Given the description of an element on the screen output the (x, y) to click on. 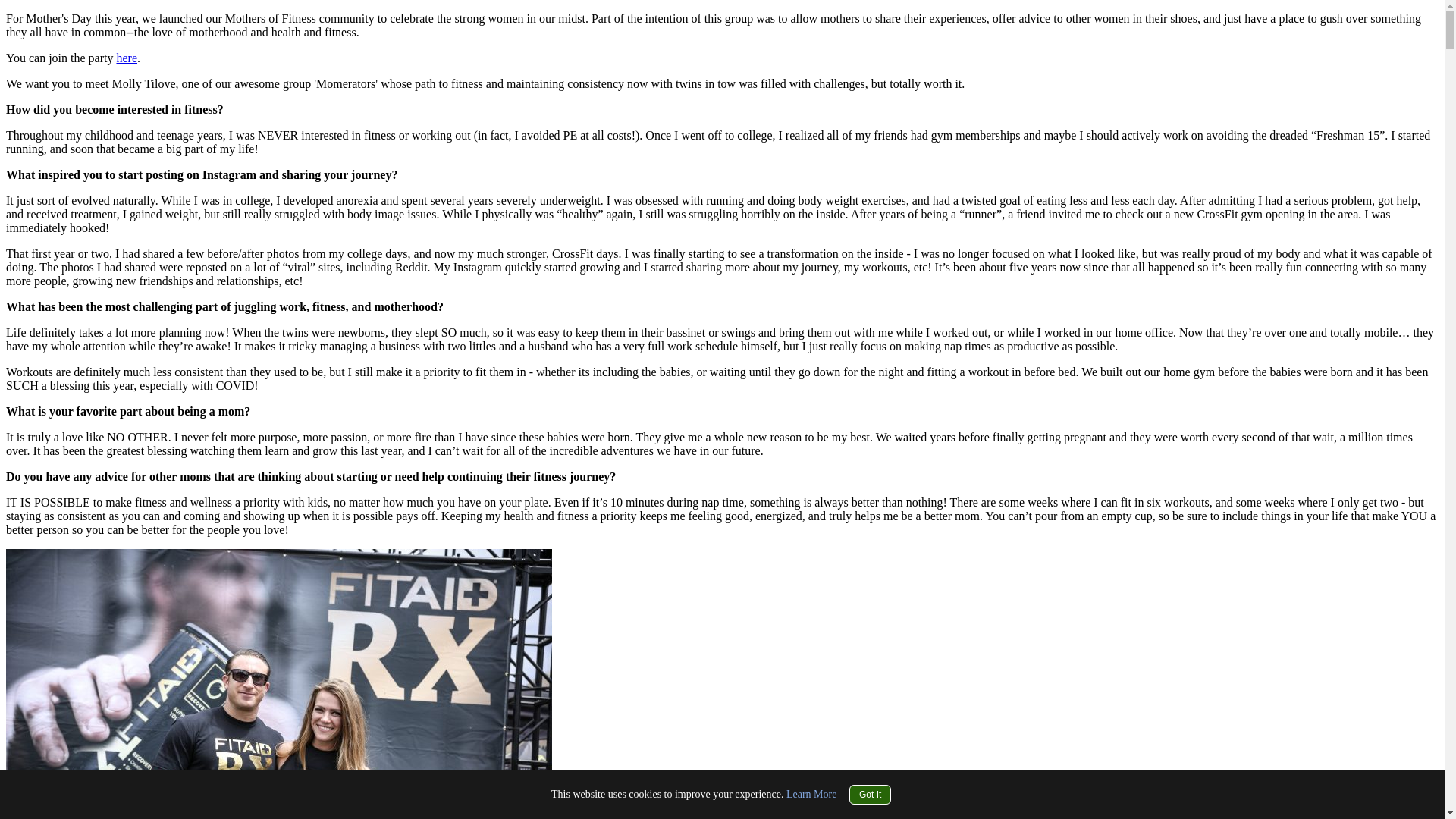
here (126, 57)
Learn More (810, 794)
Learn More (810, 794)
Got It (869, 794)
